Given the description of an element on the screen output the (x, y) to click on. 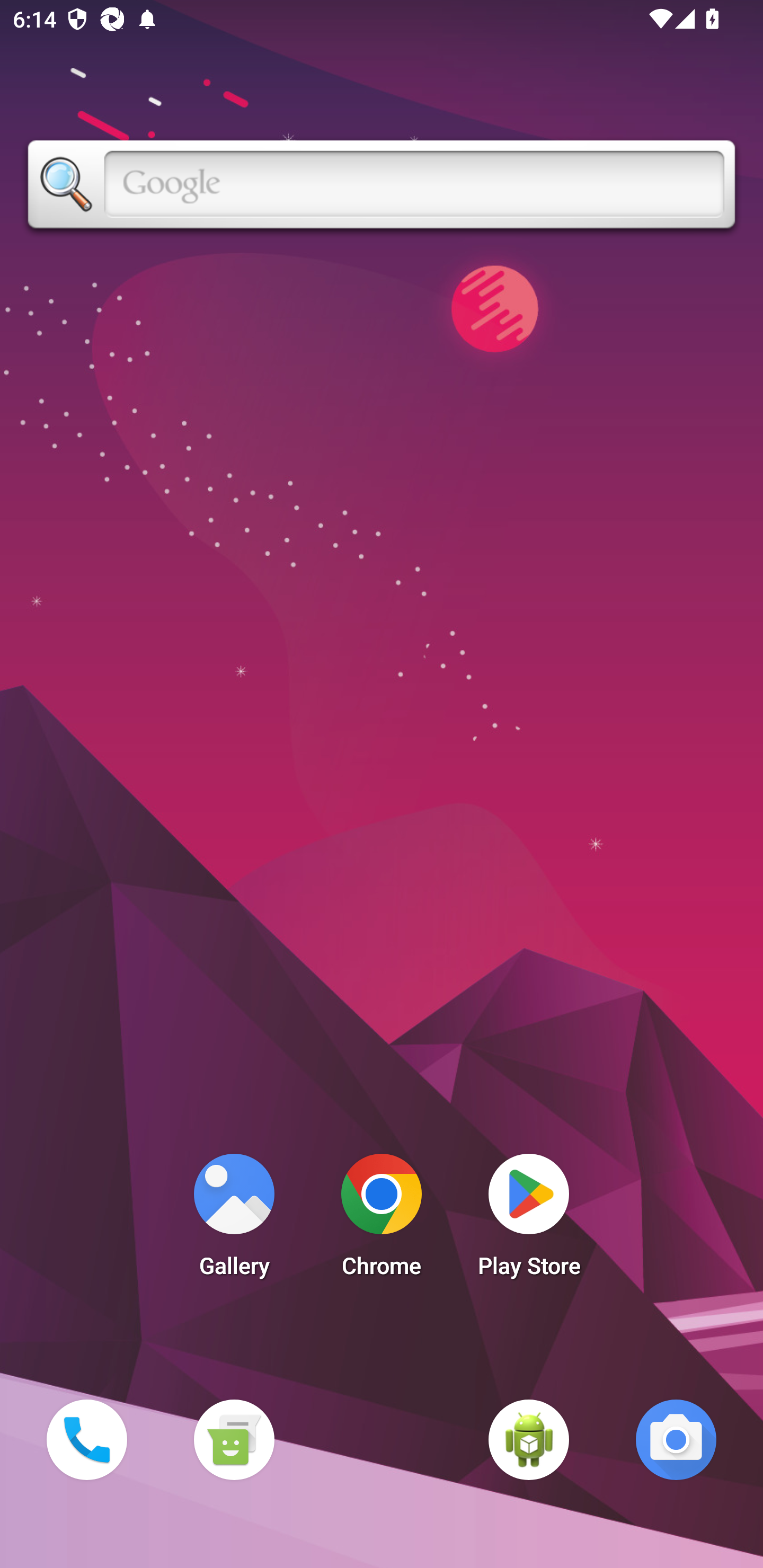
Gallery (233, 1220)
Chrome (381, 1220)
Play Store (528, 1220)
Phone (86, 1439)
Messaging (233, 1439)
WebView Browser Tester (528, 1439)
Camera (676, 1439)
